Given the description of an element on the screen output the (x, y) to click on. 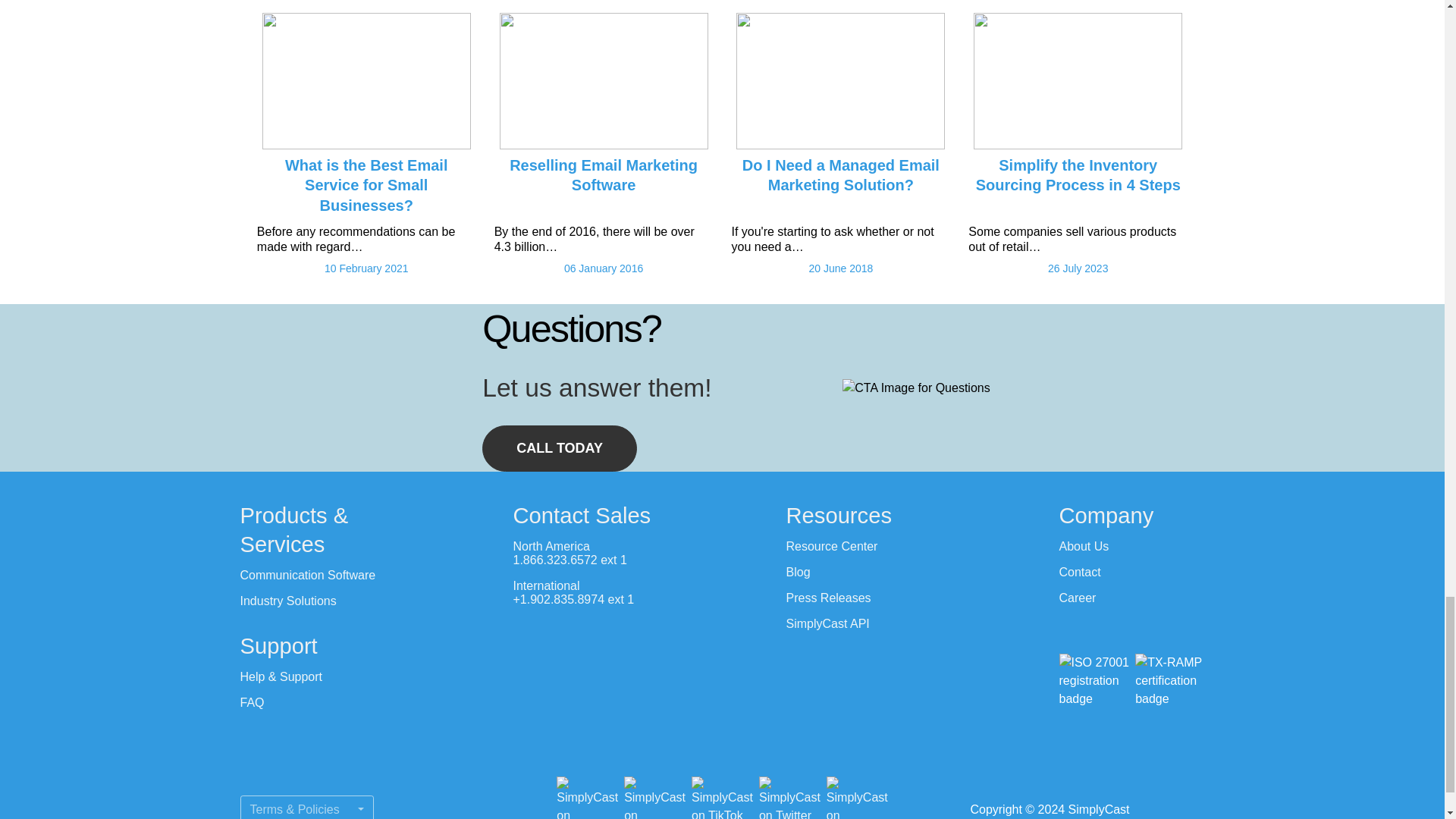
SimplyCast on LinkedIn (654, 797)
SimplyCast on TikTok (721, 797)
SimplyCast on Instagram (857, 797)
SimplyCast on Facebook (586, 797)
SimplyCast on Twitter (789, 797)
